Given the description of an element on the screen output the (x, y) to click on. 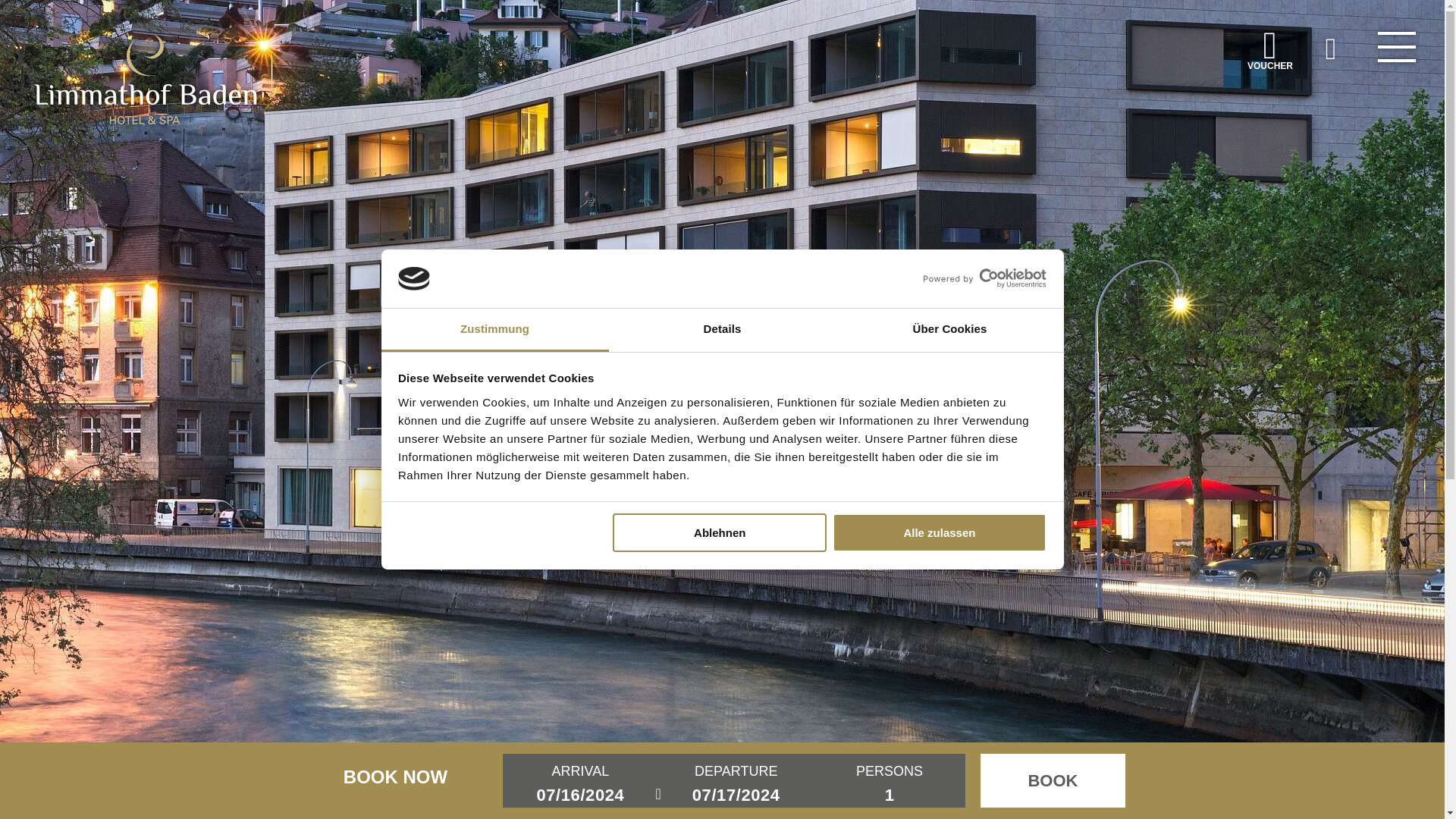
Back to home (146, 79)
Details (721, 330)
Zustimmung (494, 330)
